Given the description of an element on the screen output the (x, y) to click on. 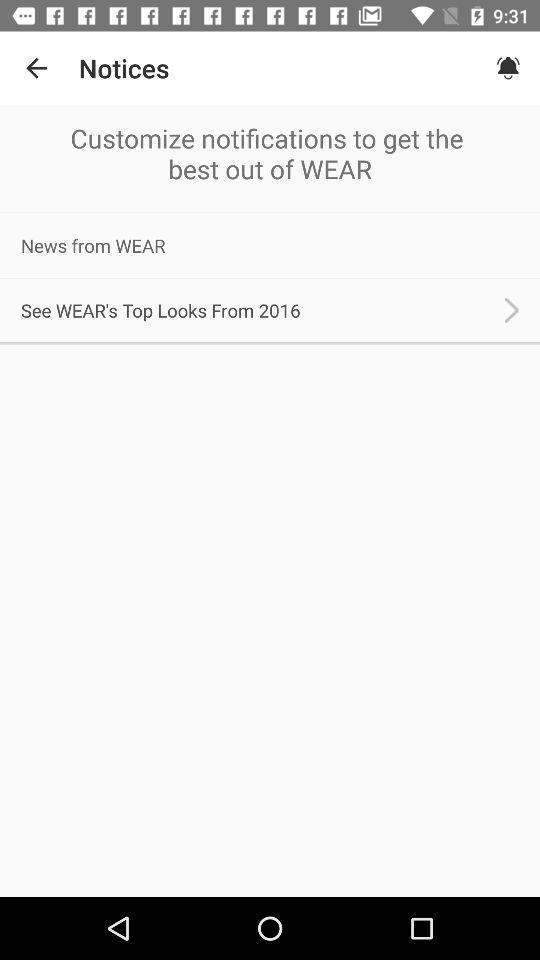
launch icon above customize notifications to icon (36, 68)
